Given the description of an element on the screen output the (x, y) to click on. 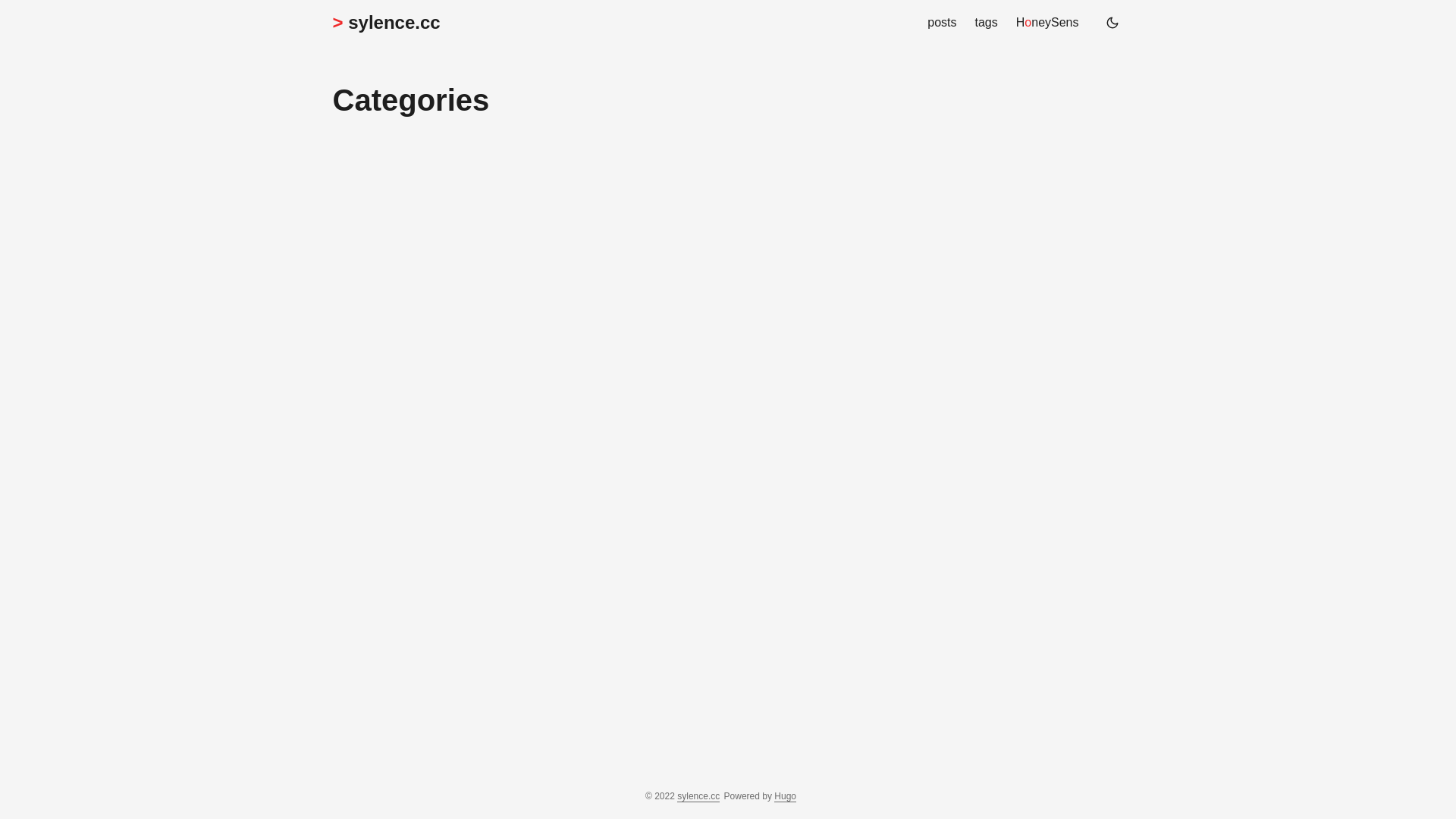
Hugo Element type: text (785, 796)
> sylence.cc Element type: text (385, 22)
posts Element type: text (941, 22)
sylence.cc Element type: text (698, 796)
tags Element type: text (986, 22)
HoneySens Element type: text (1047, 22)
(Alt + T) Element type: hover (1111, 22)
